Given the description of an element on the screen output the (x, y) to click on. 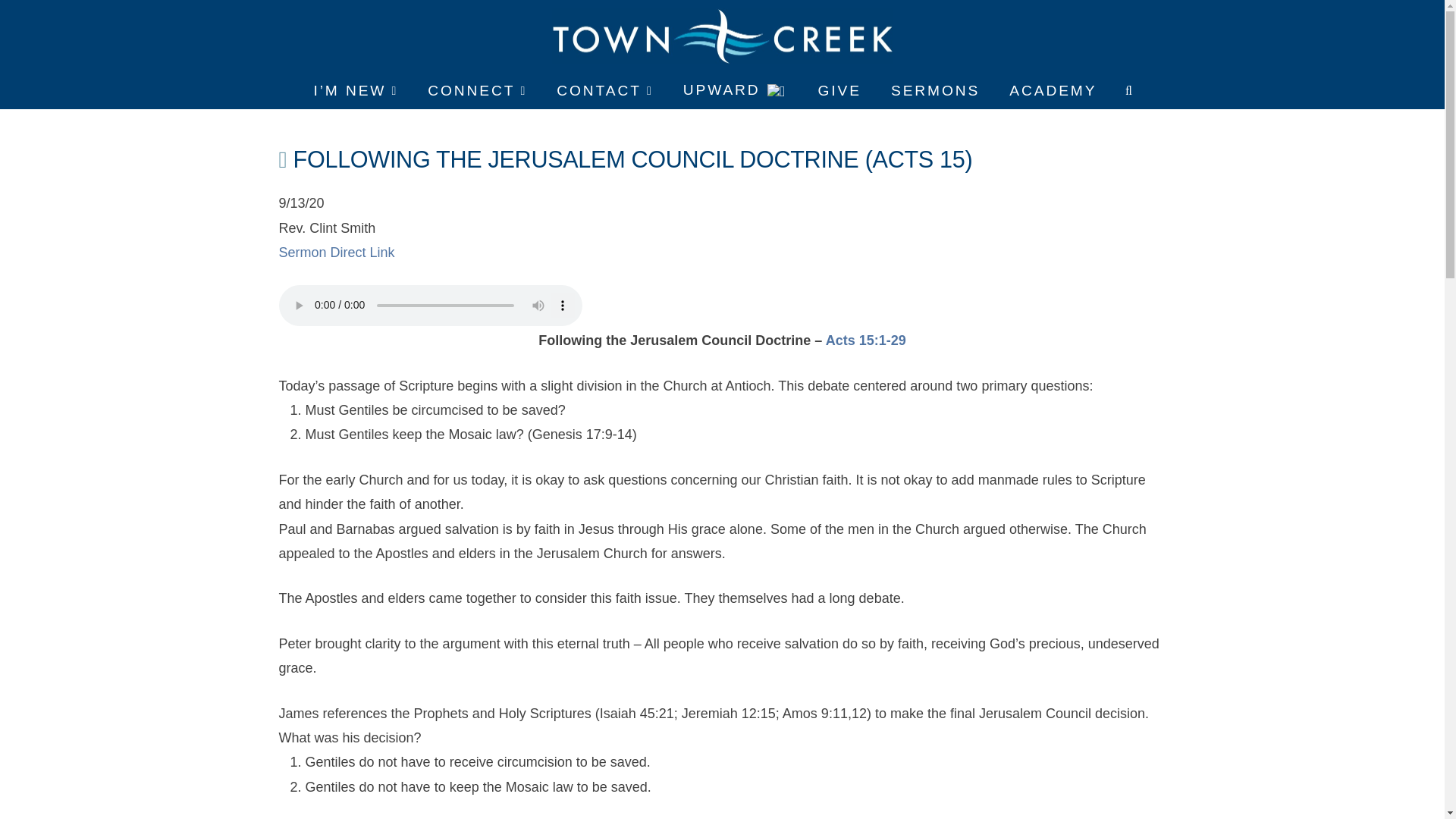
ACADEMY (1050, 90)
UPWARD (734, 90)
Acts 15:1-29 (865, 340)
Sermon Direct Link (336, 252)
GIVE (839, 90)
CONTACT (603, 90)
SERMONS (933, 90)
CONNECT (476, 90)
